Given the description of an element on the screen output the (x, y) to click on. 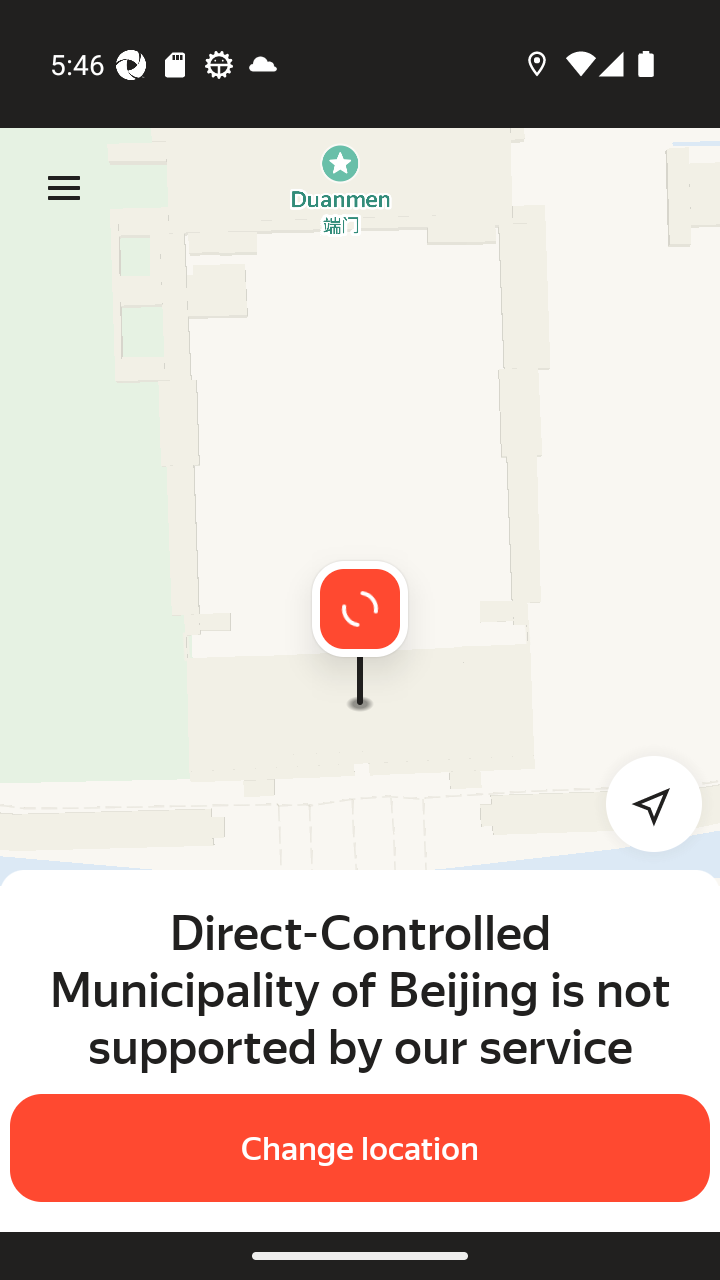
Menu Menu Menu (64, 188)
Detect my location (641, 803)
Change location (359, 1147)
